Given the description of an element on the screen output the (x, y) to click on. 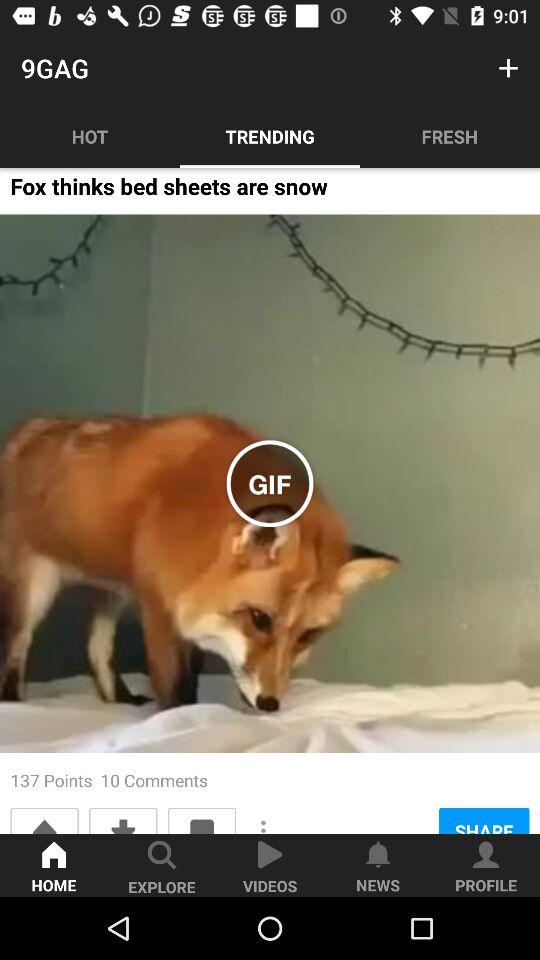
launch 137 points 	10 item (109, 779)
